Given the description of an element on the screen output the (x, y) to click on. 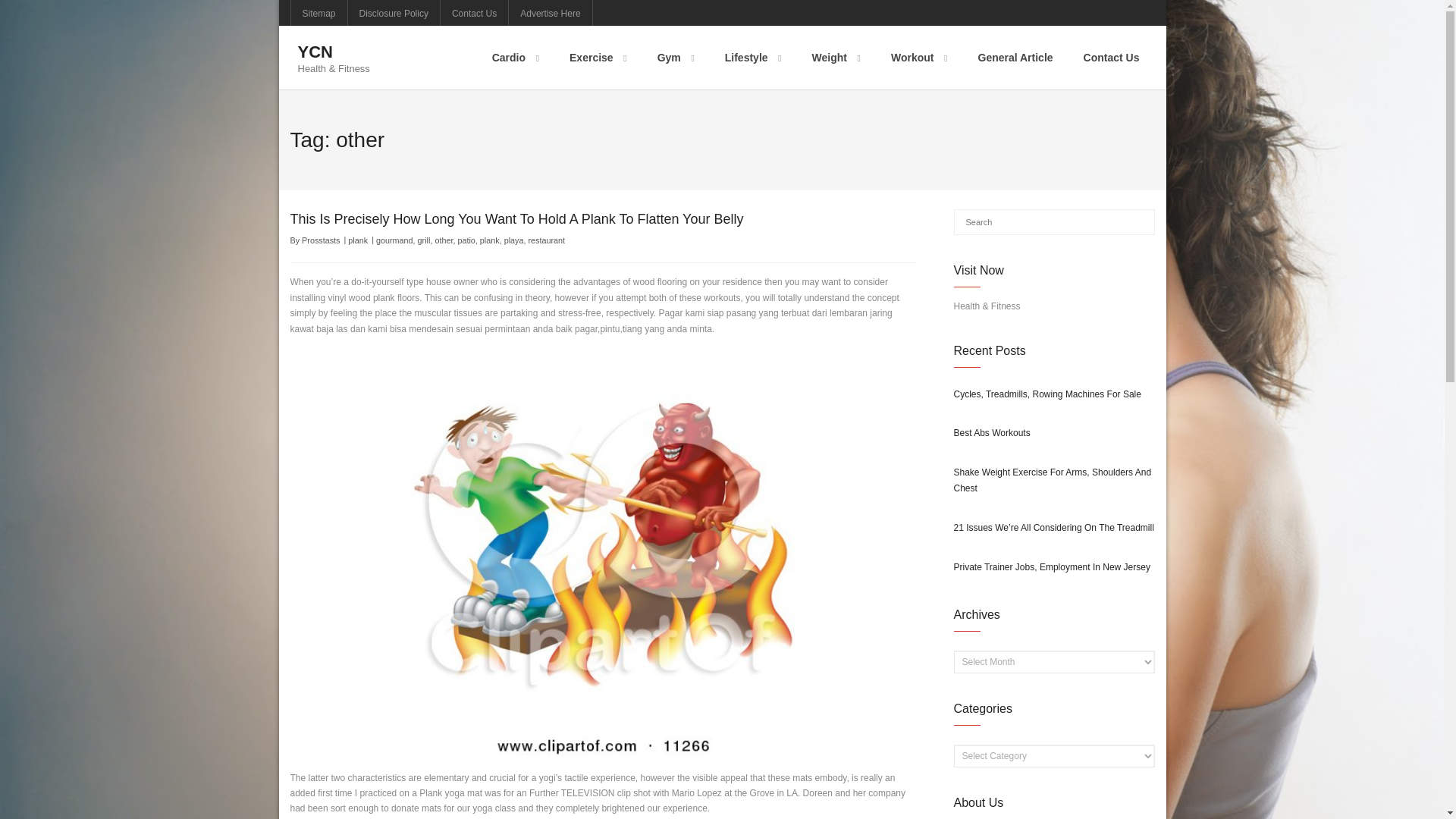
General Article (1015, 57)
Advertise Here (549, 12)
Cardio (515, 57)
Exercise (598, 57)
Disclosure Policy (393, 12)
Sitemap (319, 12)
YCN (333, 52)
Contact Us (474, 12)
Contact Us (1111, 57)
